Given the description of an element on the screen output the (x, y) to click on. 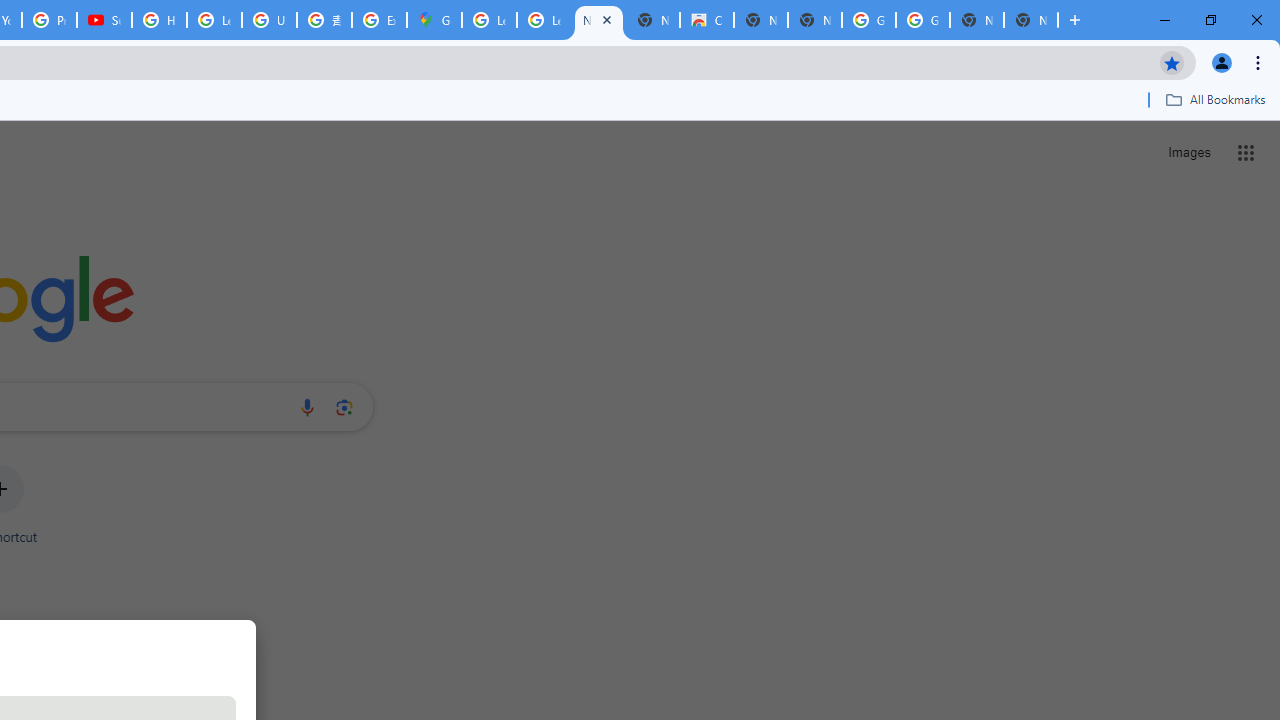
How Chrome protects your passwords - Google Chrome Help (158, 20)
Google Images (922, 20)
Explore new street-level details - Google Maps Help (379, 20)
